Given the description of an element on the screen output the (x, y) to click on. 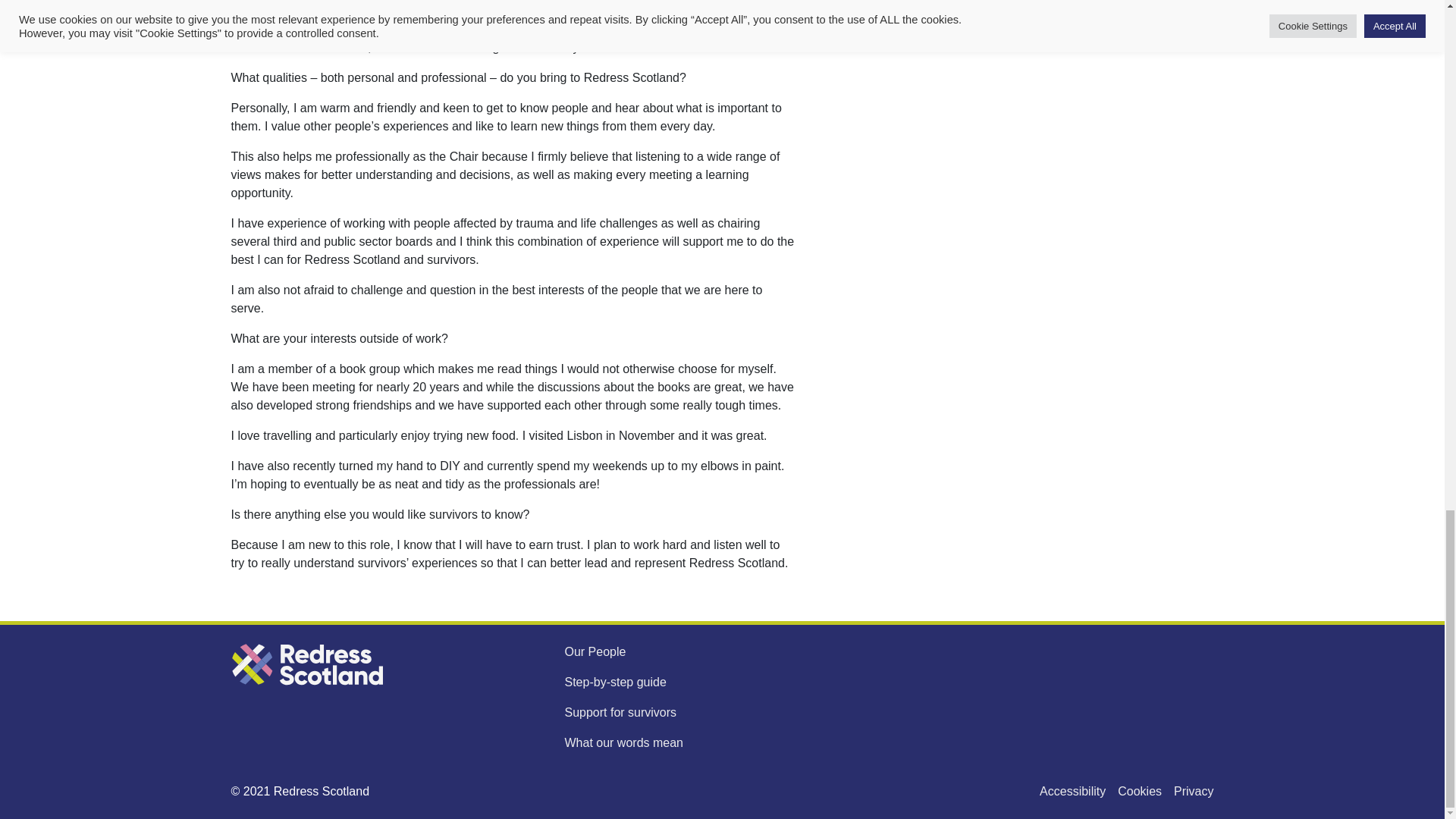
Privacy (1192, 791)
Accessibility (1072, 791)
What our words mean (623, 742)
Cookies (1139, 791)
Step-by-step guide (614, 681)
Support for survivors (620, 712)
Our People (595, 651)
